Given the description of an element on the screen output the (x, y) to click on. 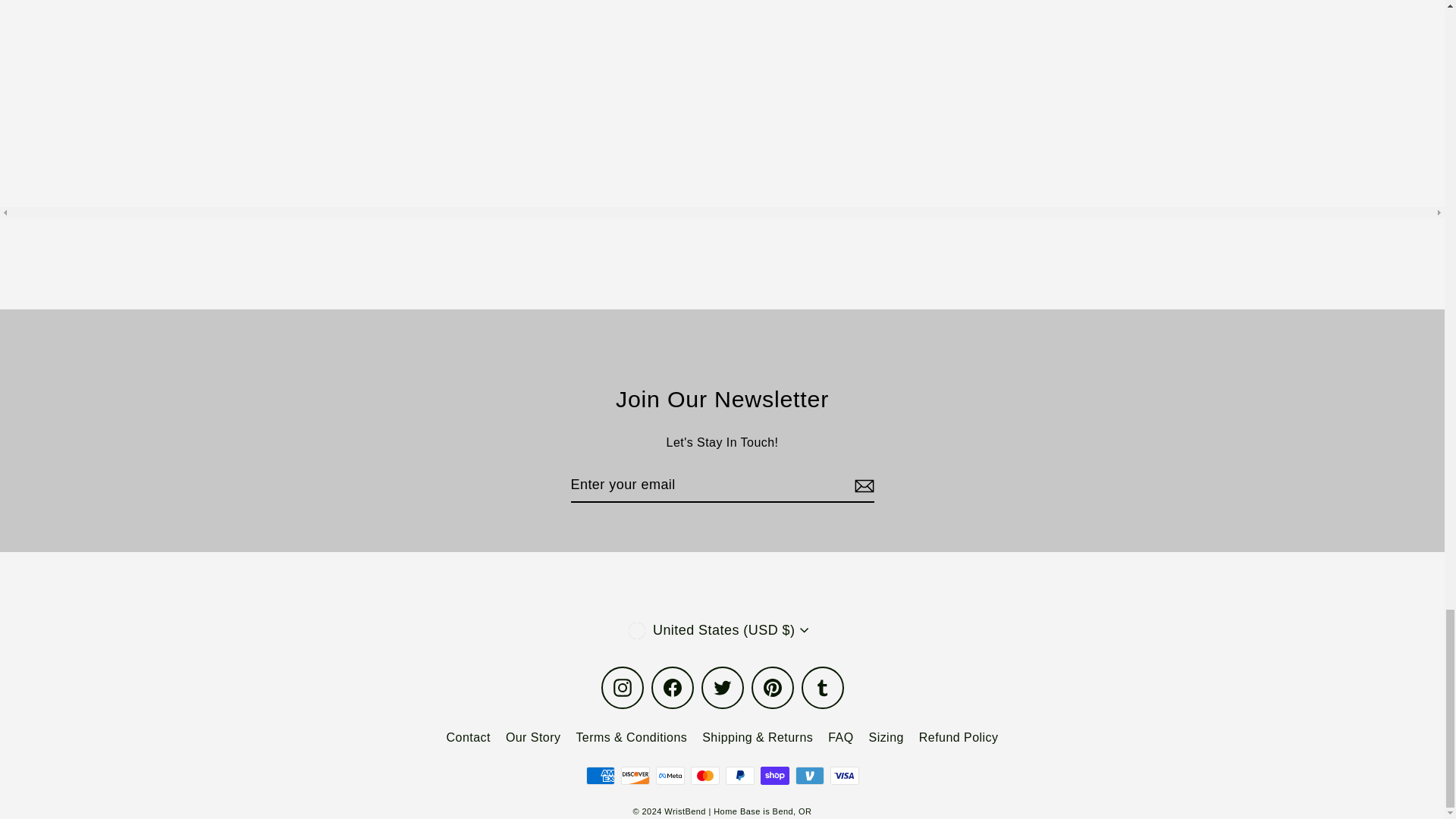
Mastercard (704, 775)
Discover (634, 775)
Meta Pay (669, 775)
WristBend on Pinterest (772, 687)
WristBend on Instagram (621, 687)
WristBend on Twitter (721, 687)
WristBend on Facebook (671, 687)
WristBend on Tumblr (821, 687)
PayPal (739, 775)
American Express (599, 775)
